Given the description of an element on the screen output the (x, y) to click on. 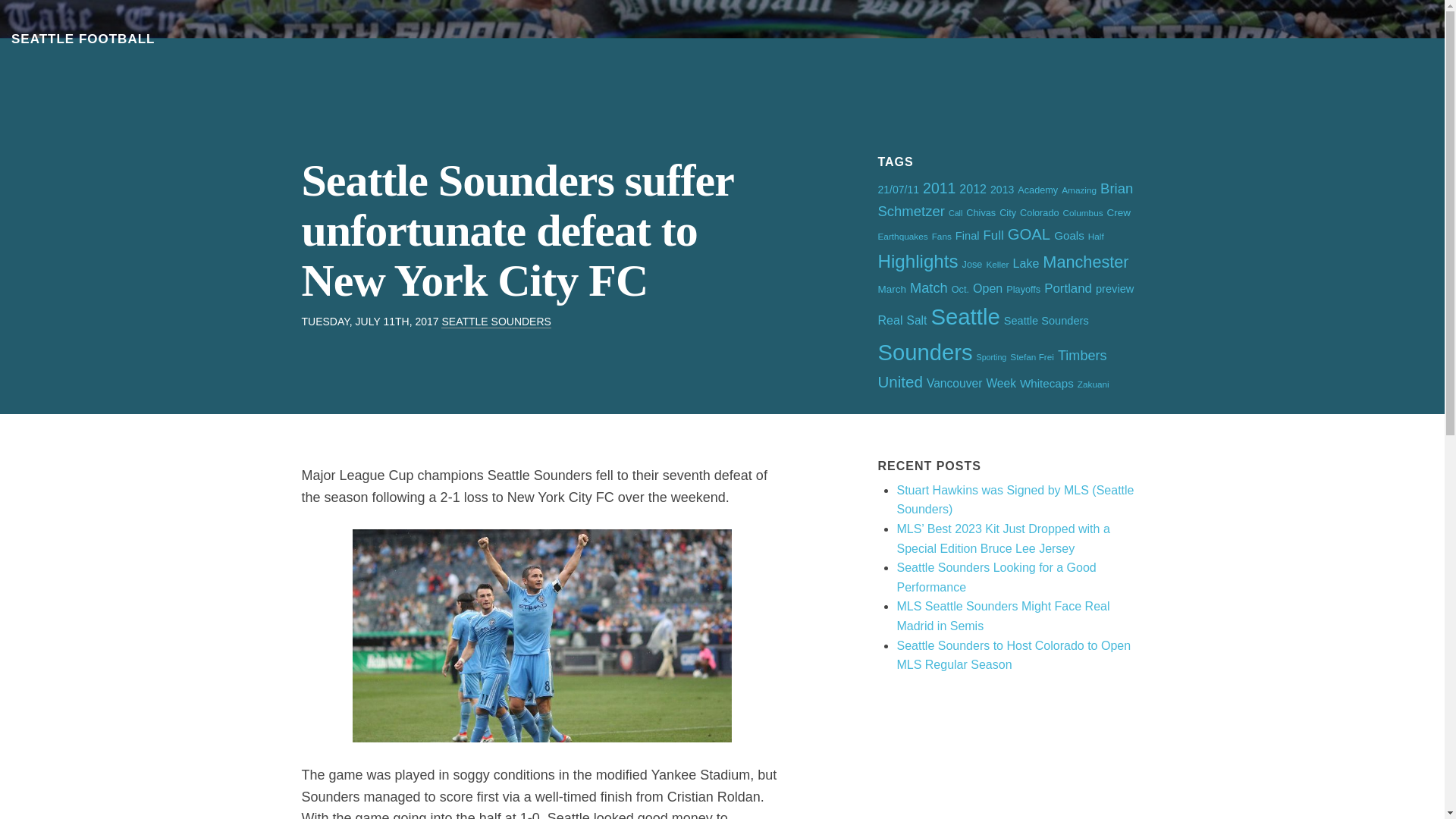
Crew (1118, 212)
preview (1115, 288)
Match (928, 287)
Half (1095, 235)
Highlights (917, 260)
Salt (917, 319)
Open (987, 287)
2012 (973, 188)
Chivas (980, 213)
2013 (1001, 189)
